Given the description of an element on the screen output the (x, y) to click on. 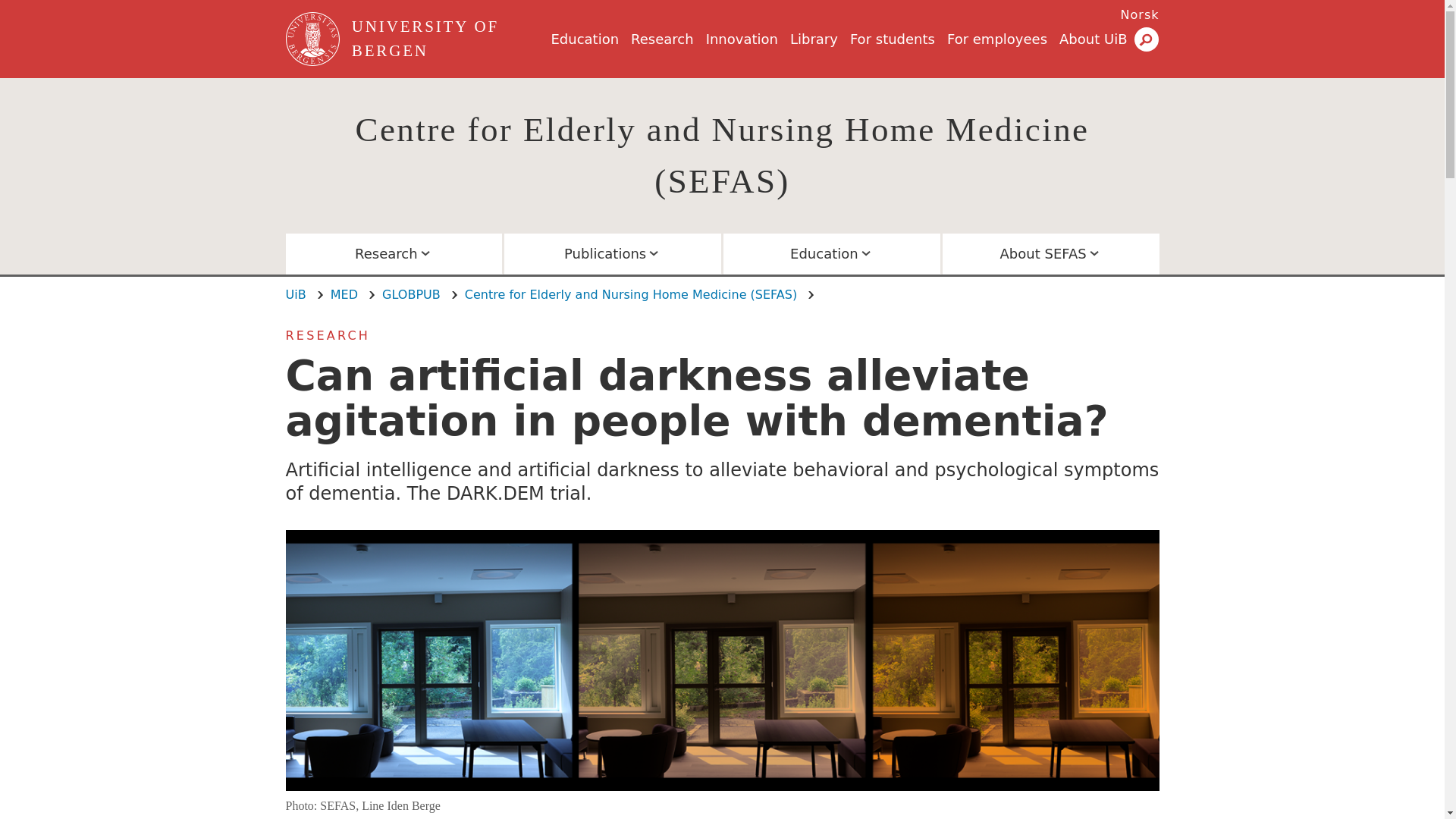
Home (313, 39)
UNIVERSITY OF BERGEN (448, 39)
About UiB (1092, 38)
Education (584, 38)
For students (892, 38)
Research (662, 38)
Home (448, 39)
Norsk (1139, 14)
For employees (996, 38)
Library (814, 38)
